Given the description of an element on the screen output the (x, y) to click on. 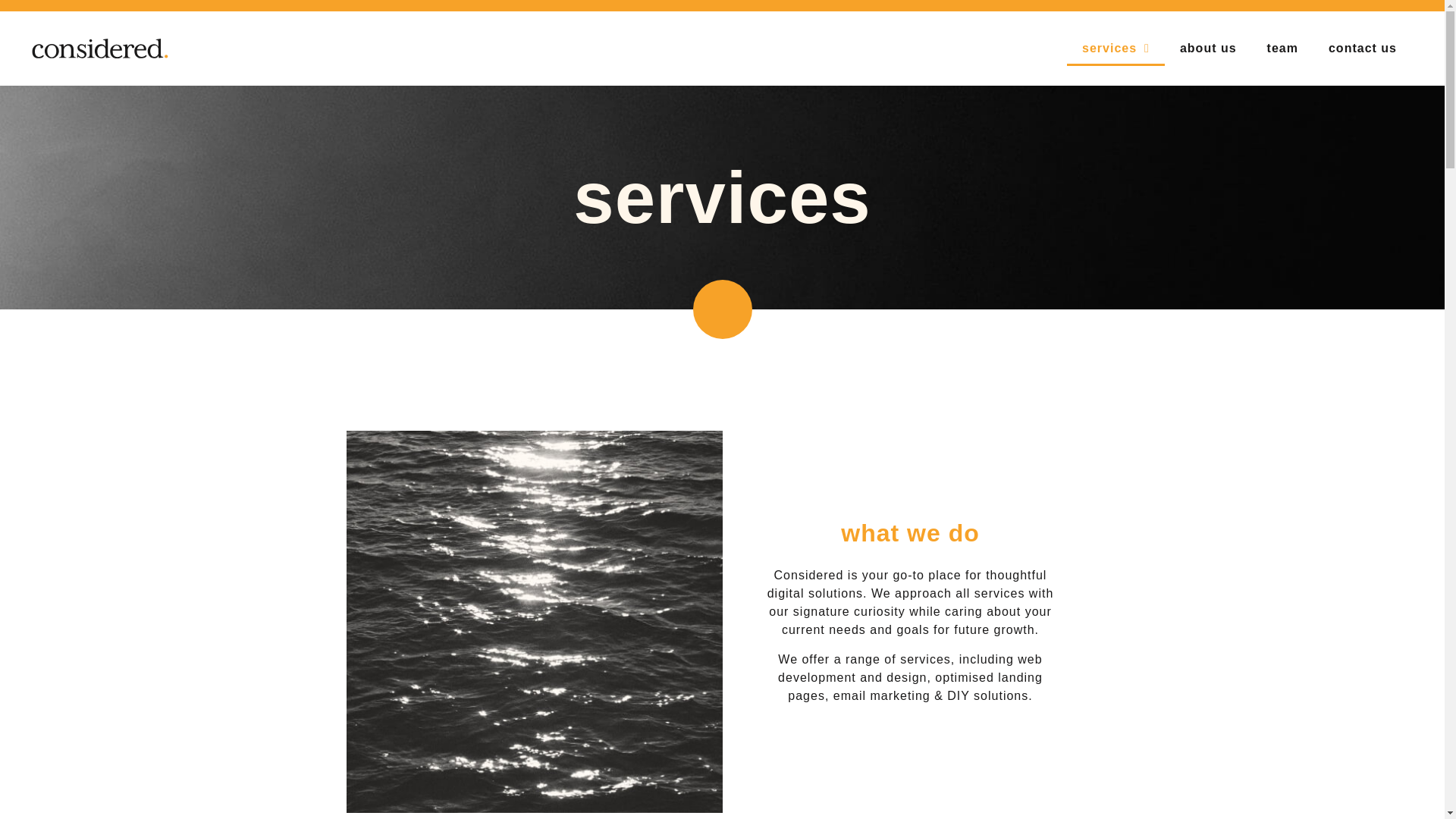
team (1282, 48)
contact us (1362, 48)
about us (1208, 48)
services (1115, 48)
